Given the description of an element on the screen output the (x, y) to click on. 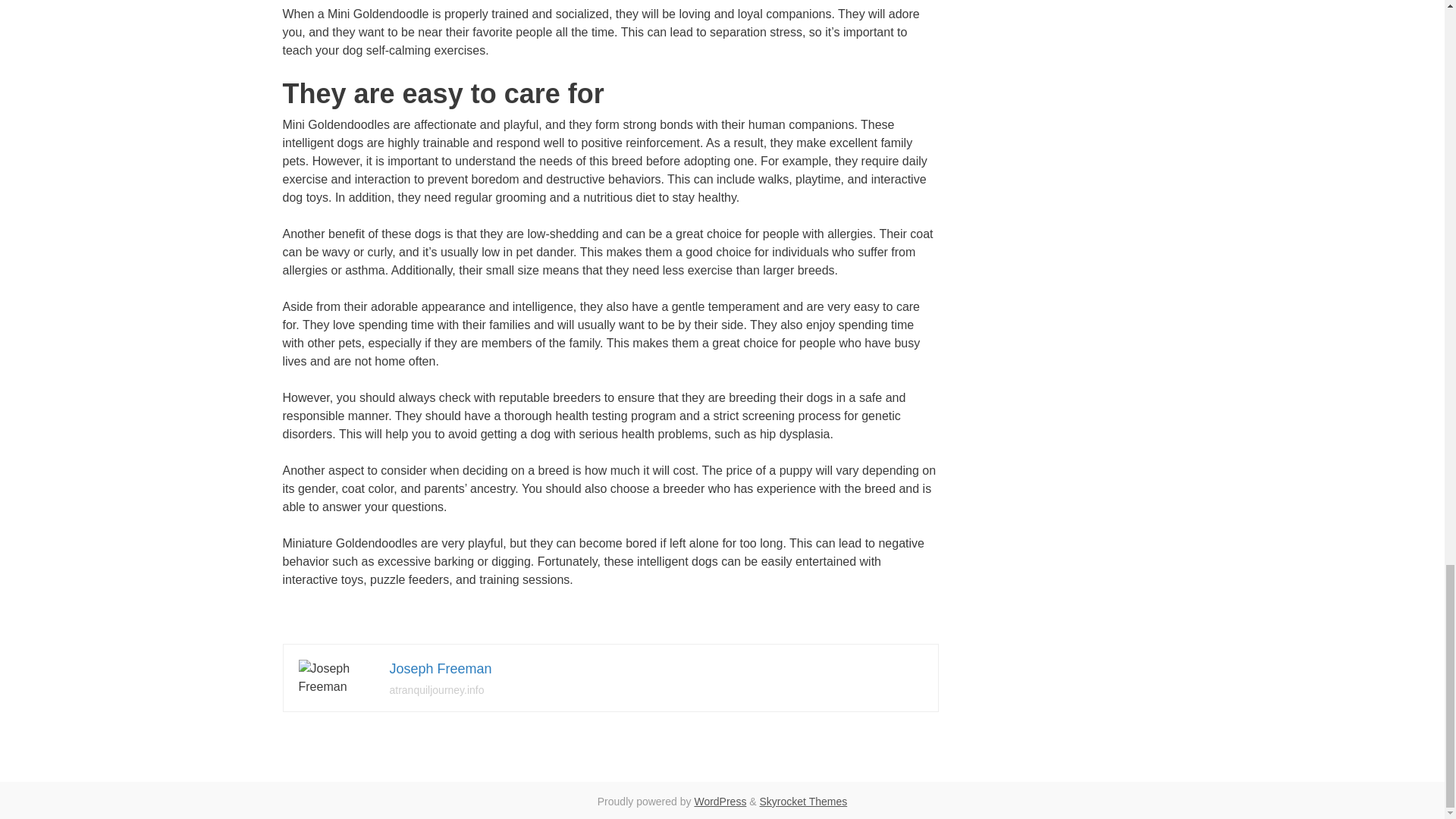
Skyrocket Themes (803, 801)
Joseph Freeman (441, 668)
atranquiljourney.info (437, 689)
Semantic Personal Publishing Platform (719, 801)
